Given the description of an element on the screen output the (x, y) to click on. 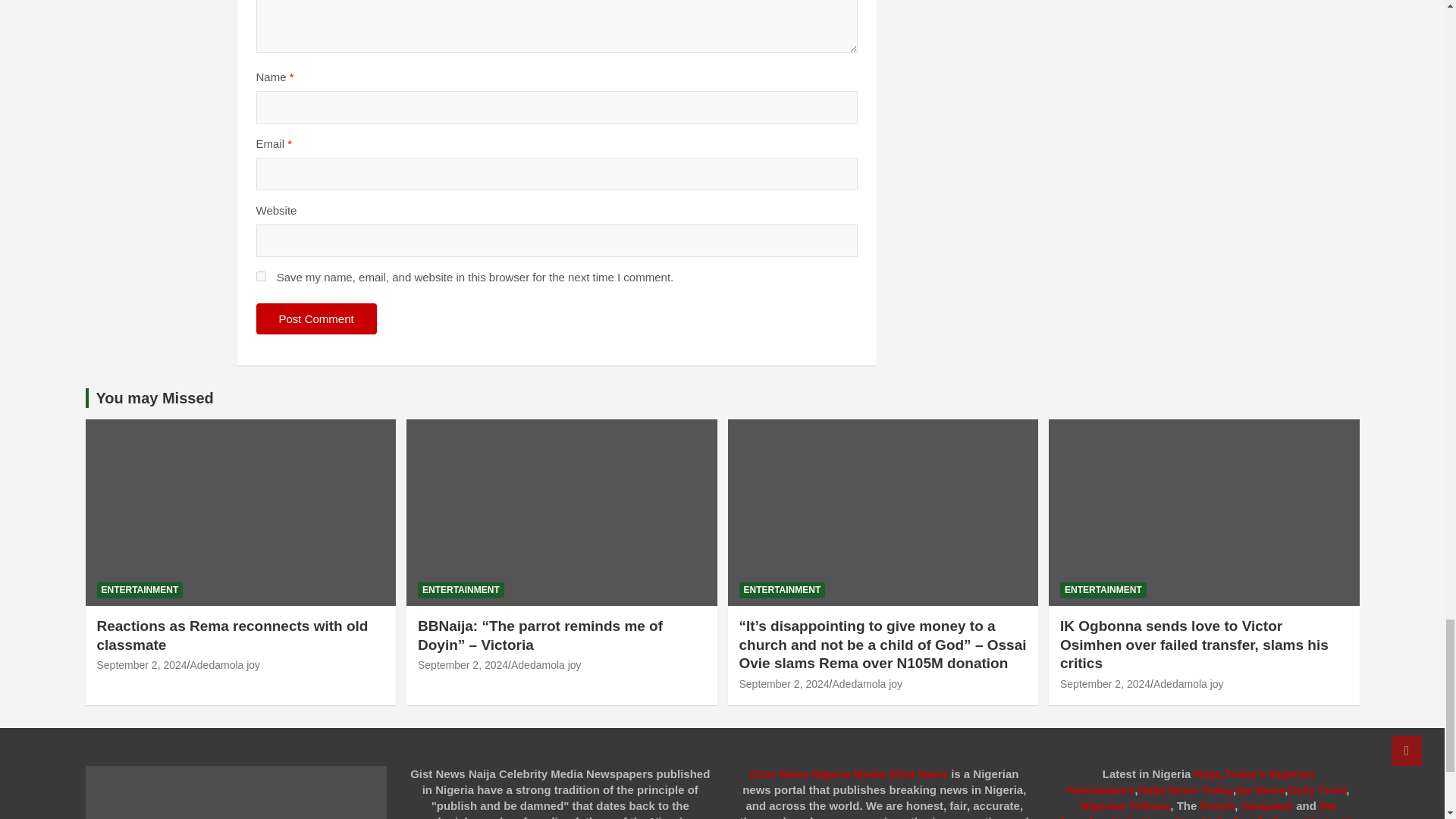
yes (261, 276)
Post Comment (316, 318)
Reactions as Rema reconnects with old classmate (142, 664)
